Given the description of an element on the screen output the (x, y) to click on. 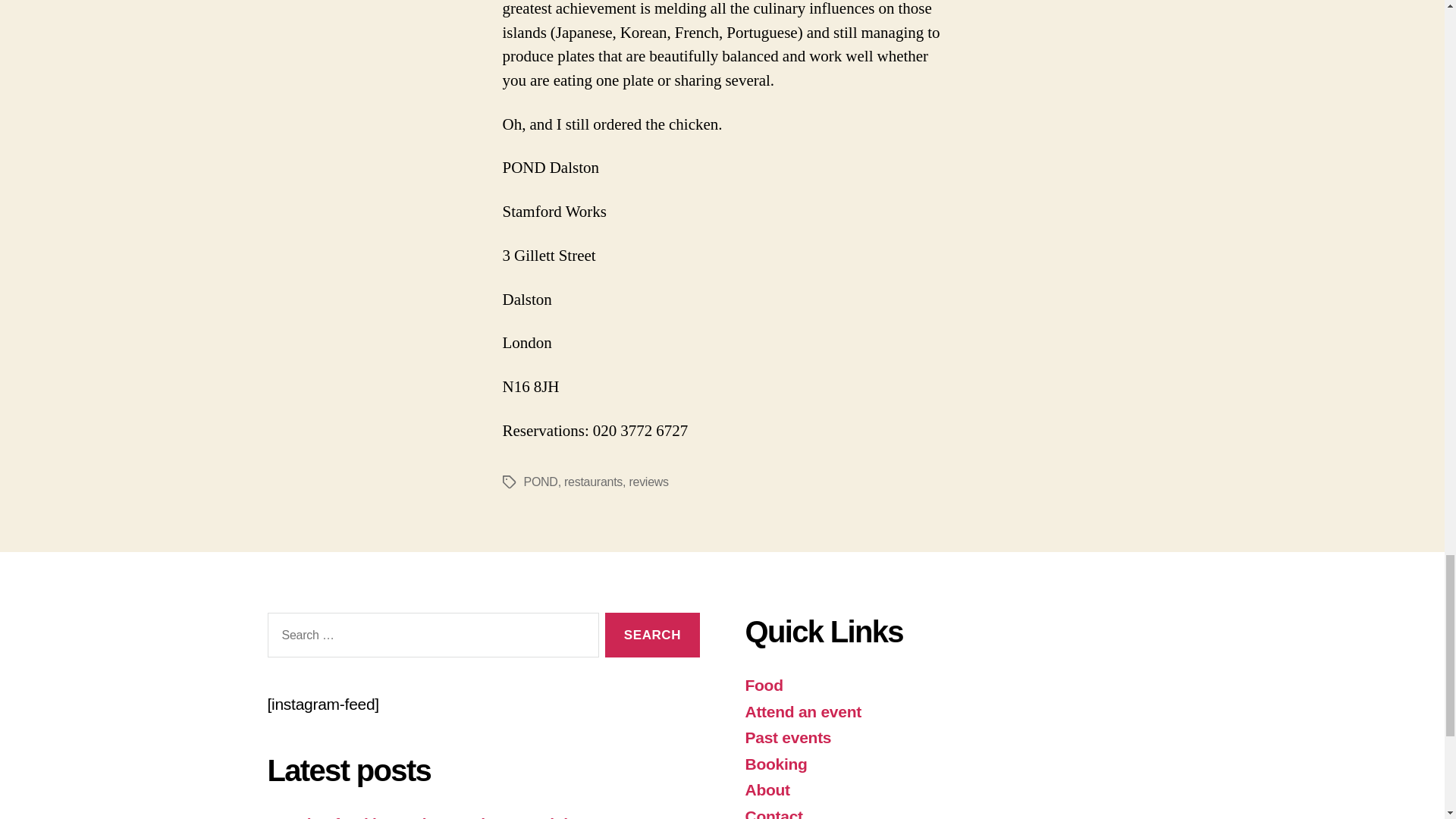
Search (651, 634)
Contact (773, 813)
Attend an event (802, 711)
reviews (648, 481)
Food (763, 684)
Events (802, 711)
Booking (775, 764)
POND (539, 481)
Search (651, 634)
Past events (787, 737)
About (766, 789)
restaurants (593, 481)
Creating food in up close and personal demos (437, 816)
Search (651, 634)
